Given the description of an element on the screen output the (x, y) to click on. 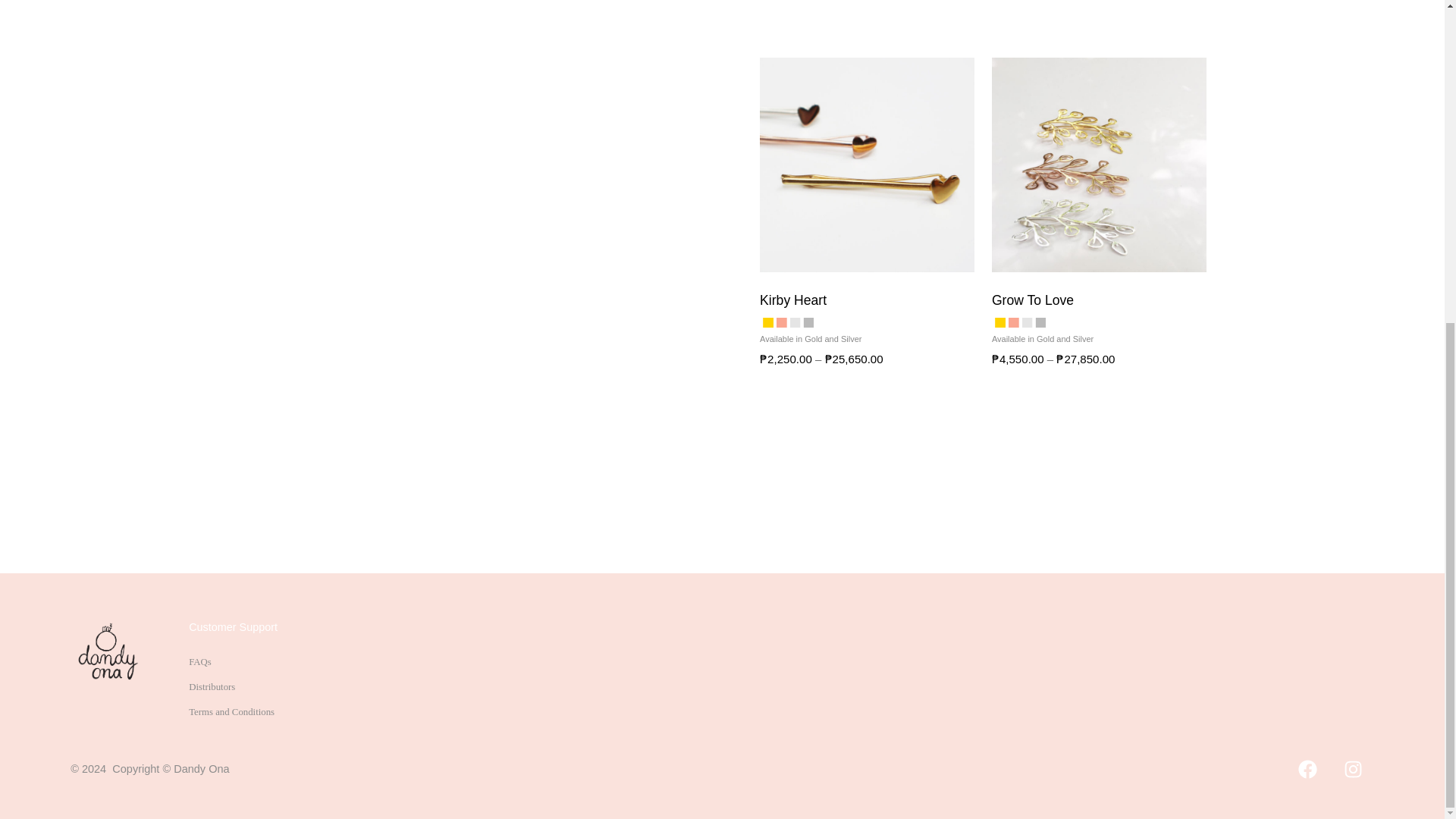
Distributors (211, 686)
FAQs (200, 661)
Terms and Conditions (232, 711)
Open Instagram in a new tab (1353, 769)
Open Facebook in a new tab (1308, 769)
